Given the description of an element on the screen output the (x, y) to click on. 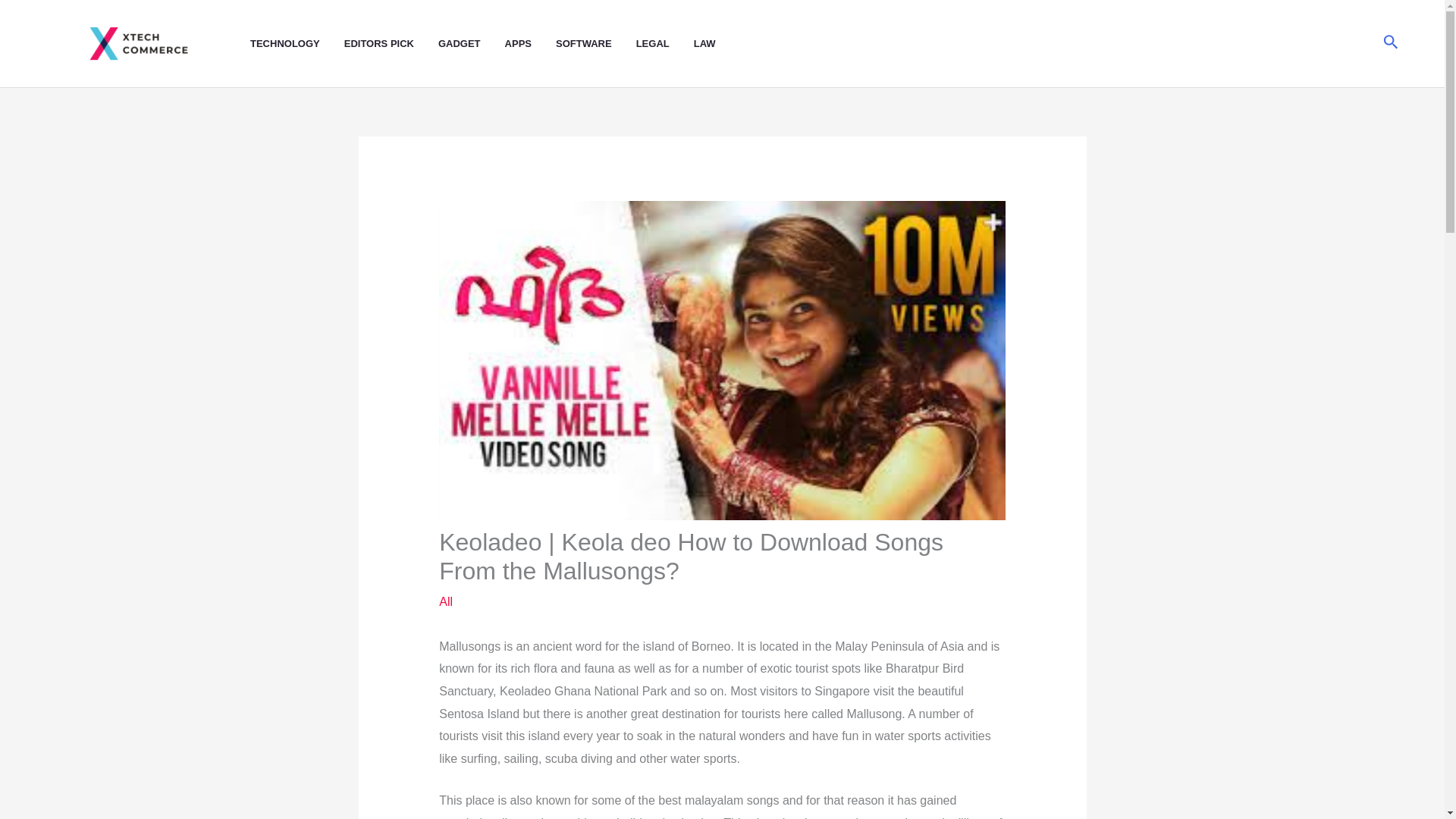
EDITORS PICK (390, 43)
SOFTWARE (596, 43)
TECHNOLOGY (296, 43)
All (445, 601)
